Given the description of an element on the screen output the (x, y) to click on. 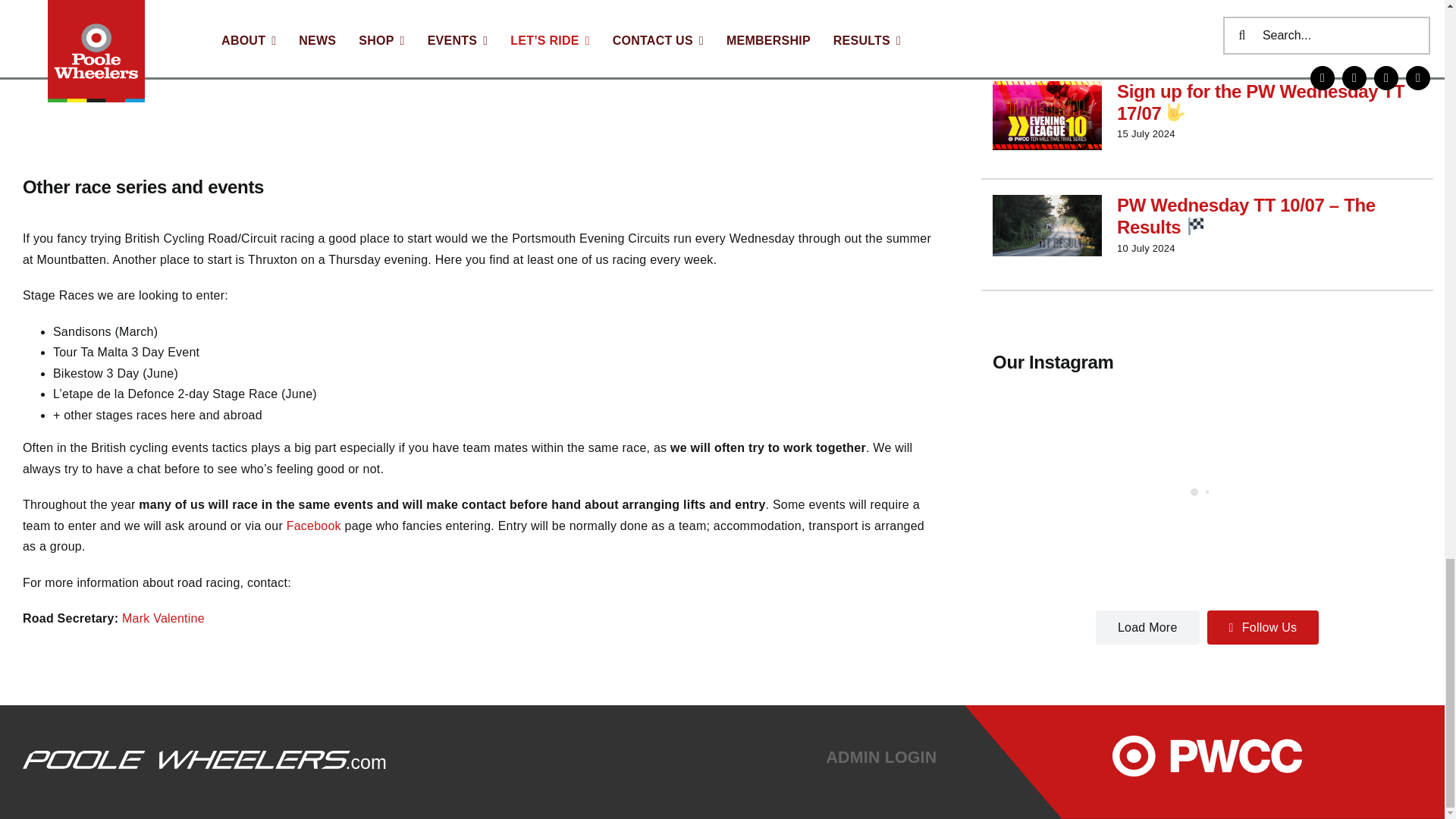
Footer Logo (205, 762)
YouTube video player 1 (480, 63)
